Given the description of an element on the screen output the (x, y) to click on. 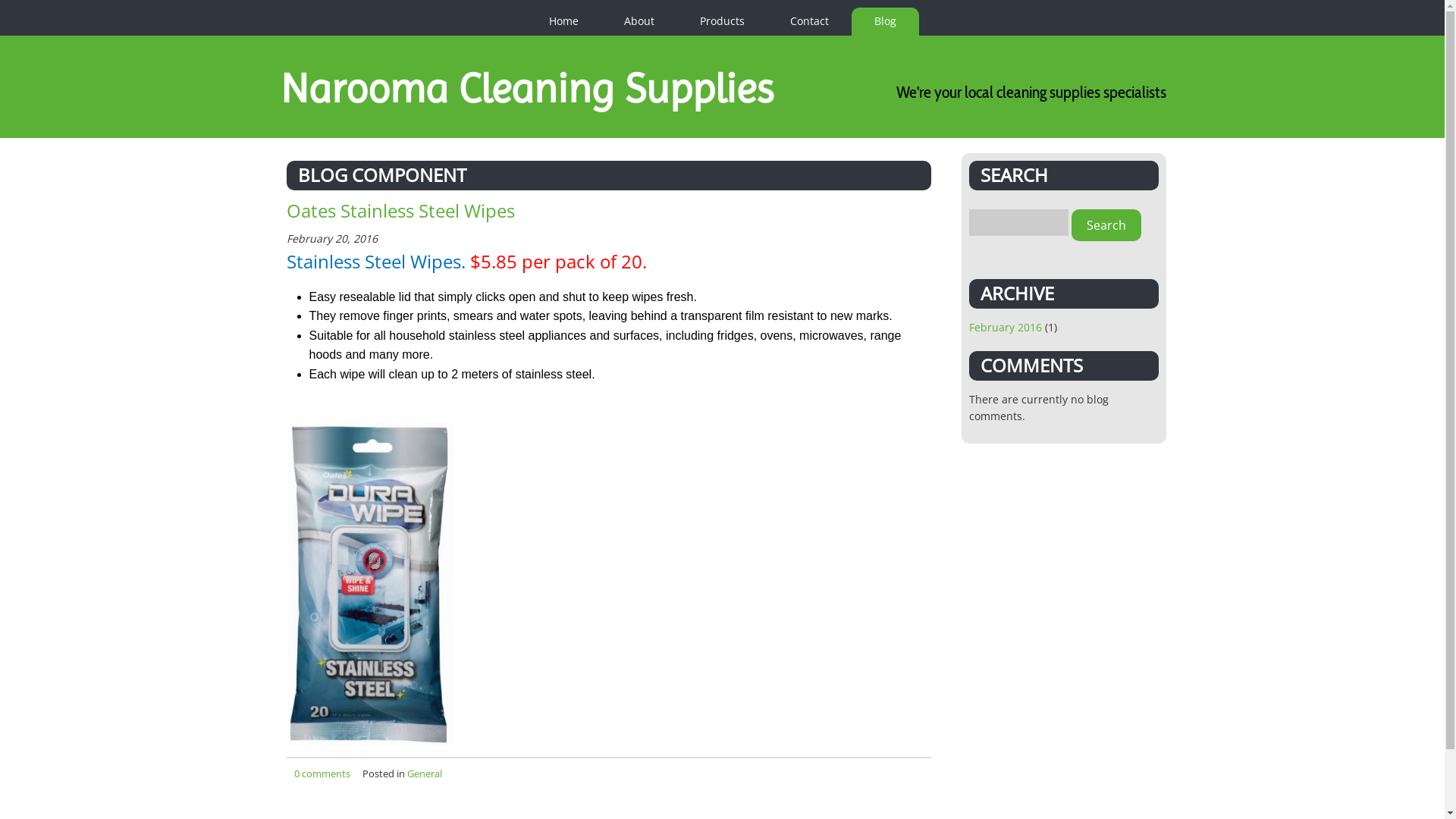
About Element type: text (638, 21)
Products Element type: text (721, 21)
February 2016 Element type: text (1005, 327)
Contact Element type: text (809, 21)
Narooma Cleaning Supplies Element type: text (526, 88)
General Element type: text (423, 773)
Oates Stainless Steel Wipes Element type: text (400, 209)
Blog Element type: text (884, 21)
Home Element type: text (563, 21)
0 comments Element type: text (322, 773)
Search Element type: text (1105, 225)
